Given the description of an element on the screen output the (x, y) to click on. 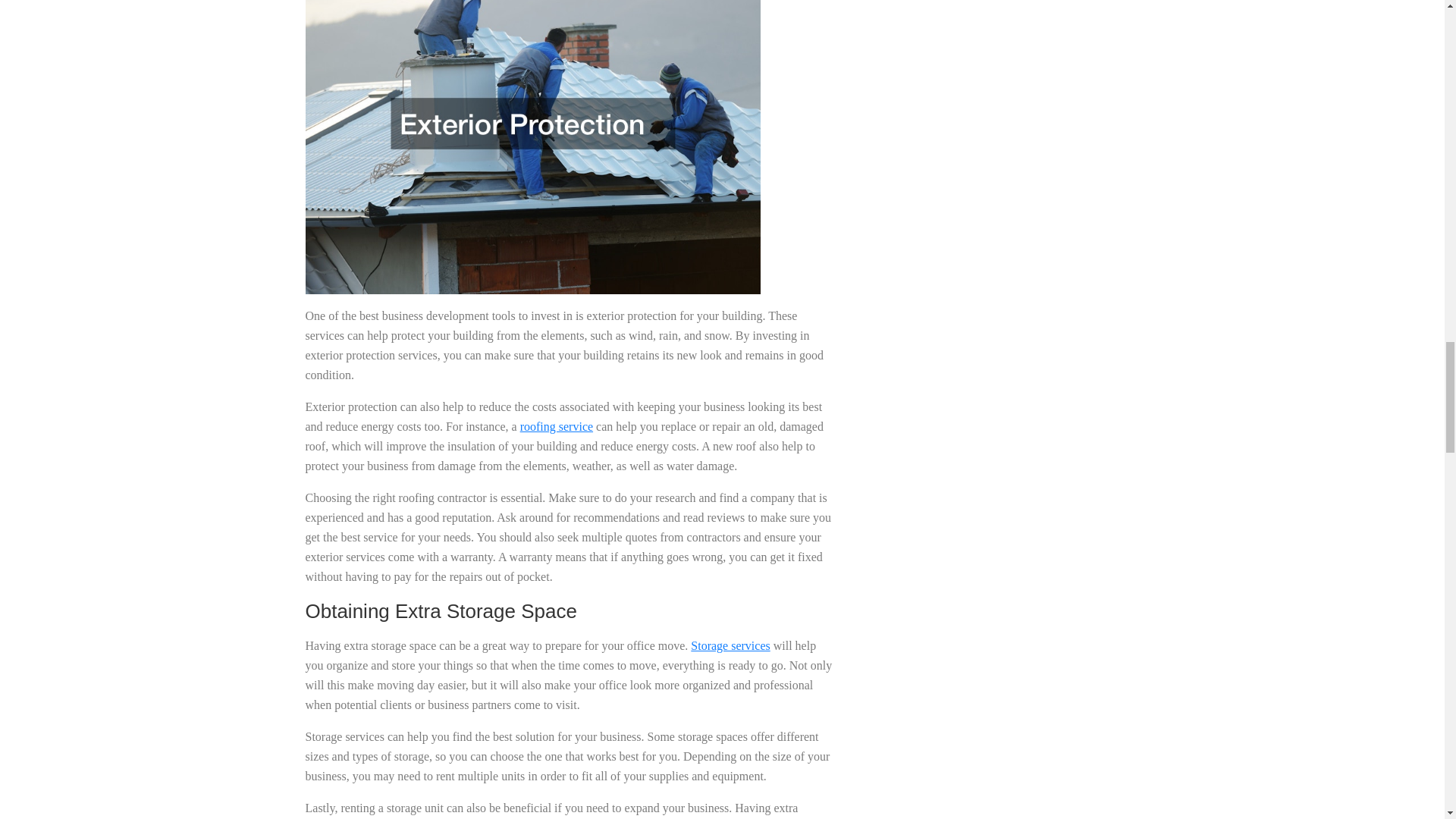
roofing service (555, 426)
Storage services (730, 645)
